Given the description of an element on the screen output the (x, y) to click on. 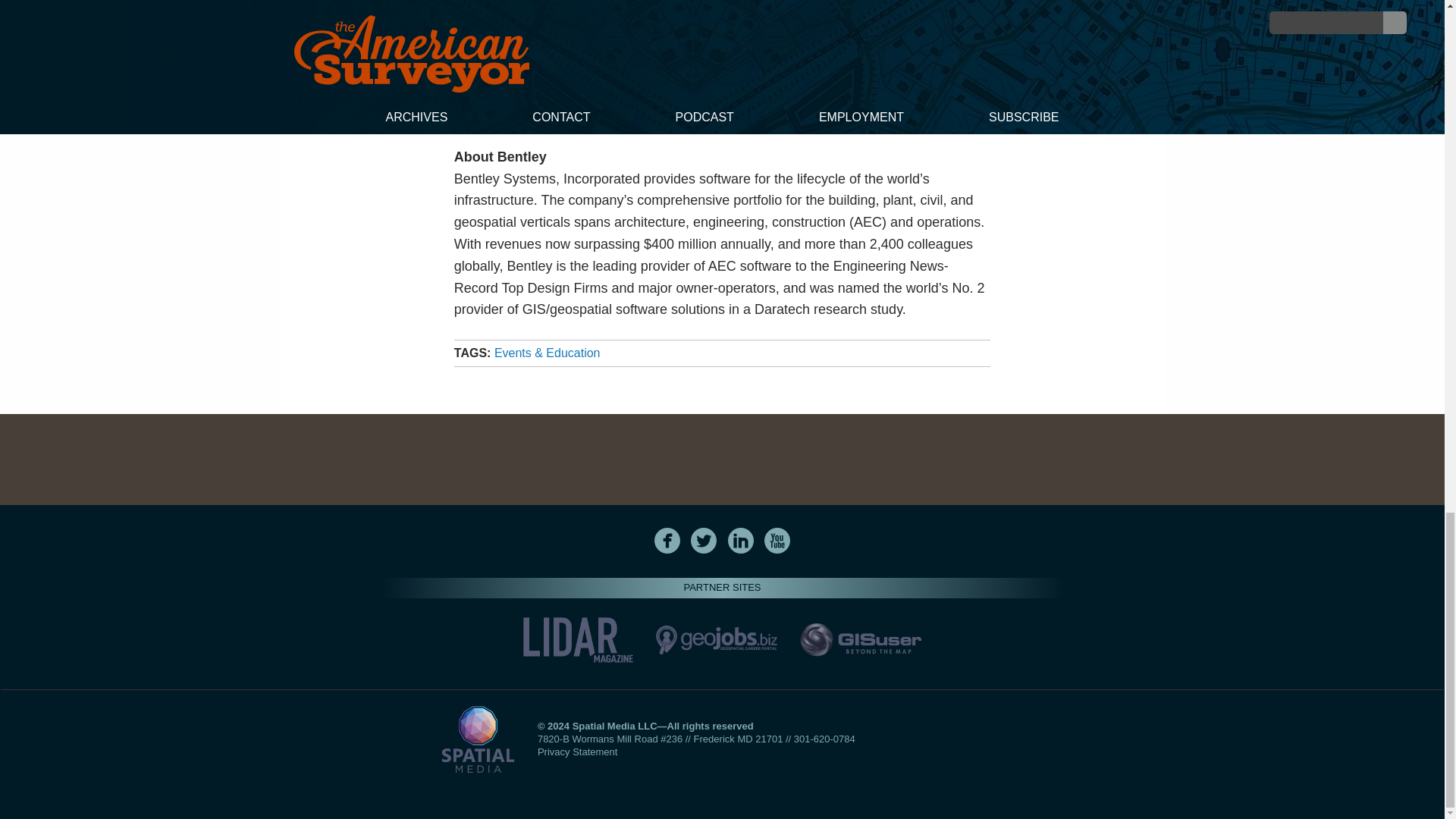
Privacy Statement (577, 751)
icon-sm-youtube (776, 540)
icon-sm-twitter (703, 540)
icon-sm-linkedin (741, 540)
3rd party ad content (721, 459)
icon-sm-fb (666, 540)
icon-sm-twitter (703, 540)
www.gaa1900.com (918, 115)
icon-sm-youtube (777, 540)
icon-sm-linkedin (740, 540)
